Given the description of an element on the screen output the (x, y) to click on. 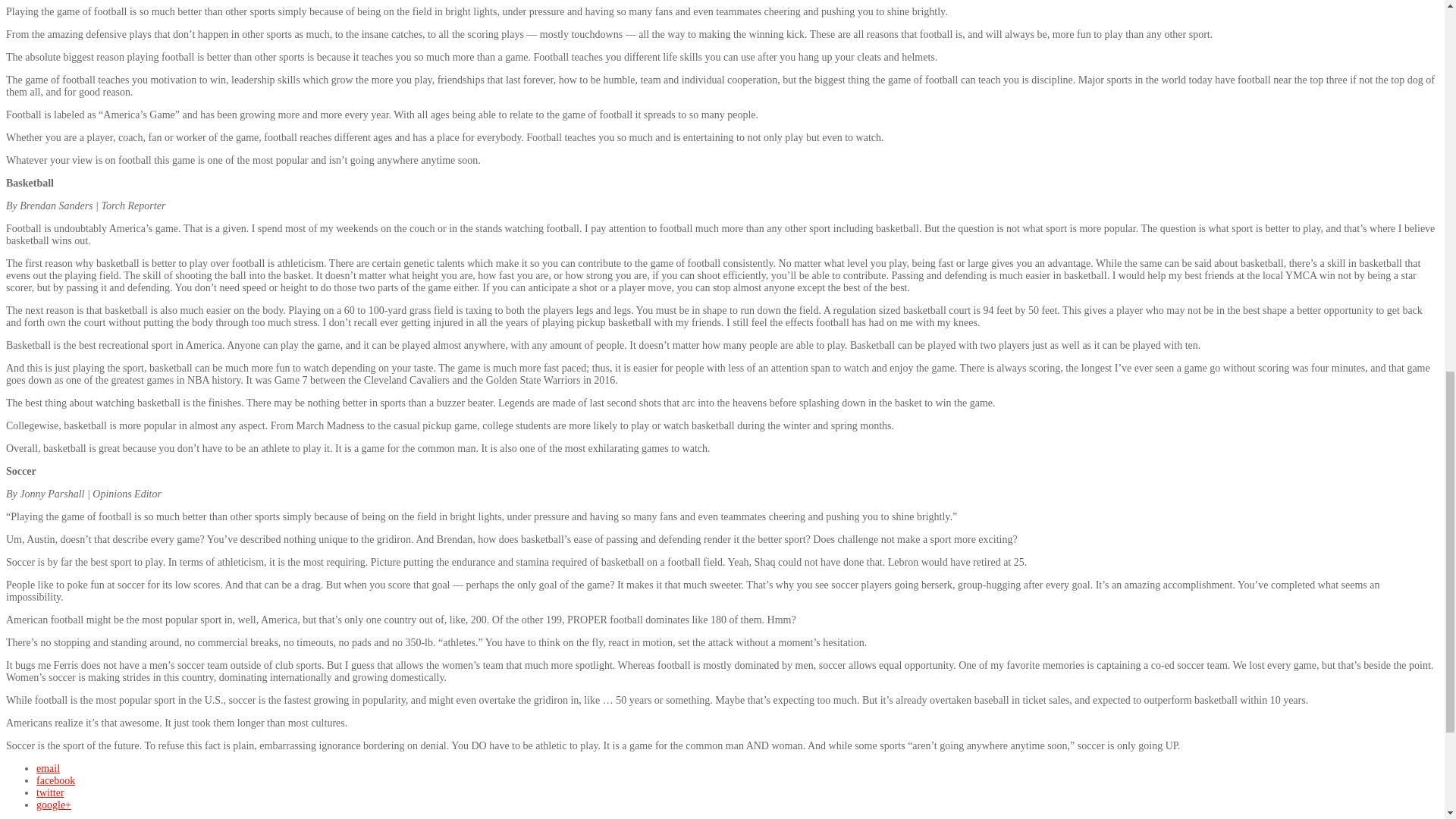
email (47, 767)
facebook (55, 780)
